Given the description of an element on the screen output the (x, y) to click on. 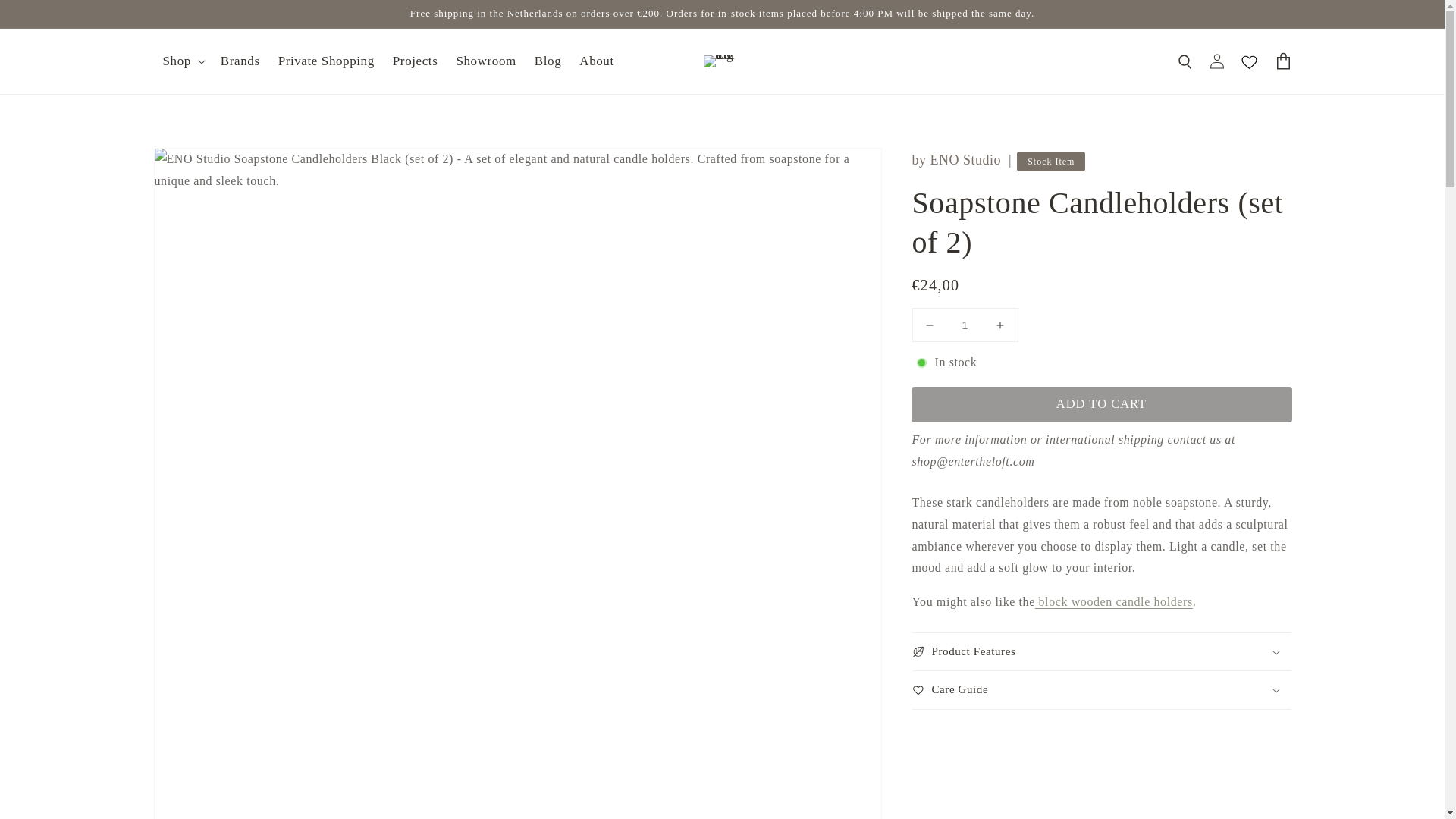
SKIP TO CONTENT (45, 16)
Block wooden candle holder (1113, 601)
1 (964, 324)
